Given the description of an element on the screen output the (x, y) to click on. 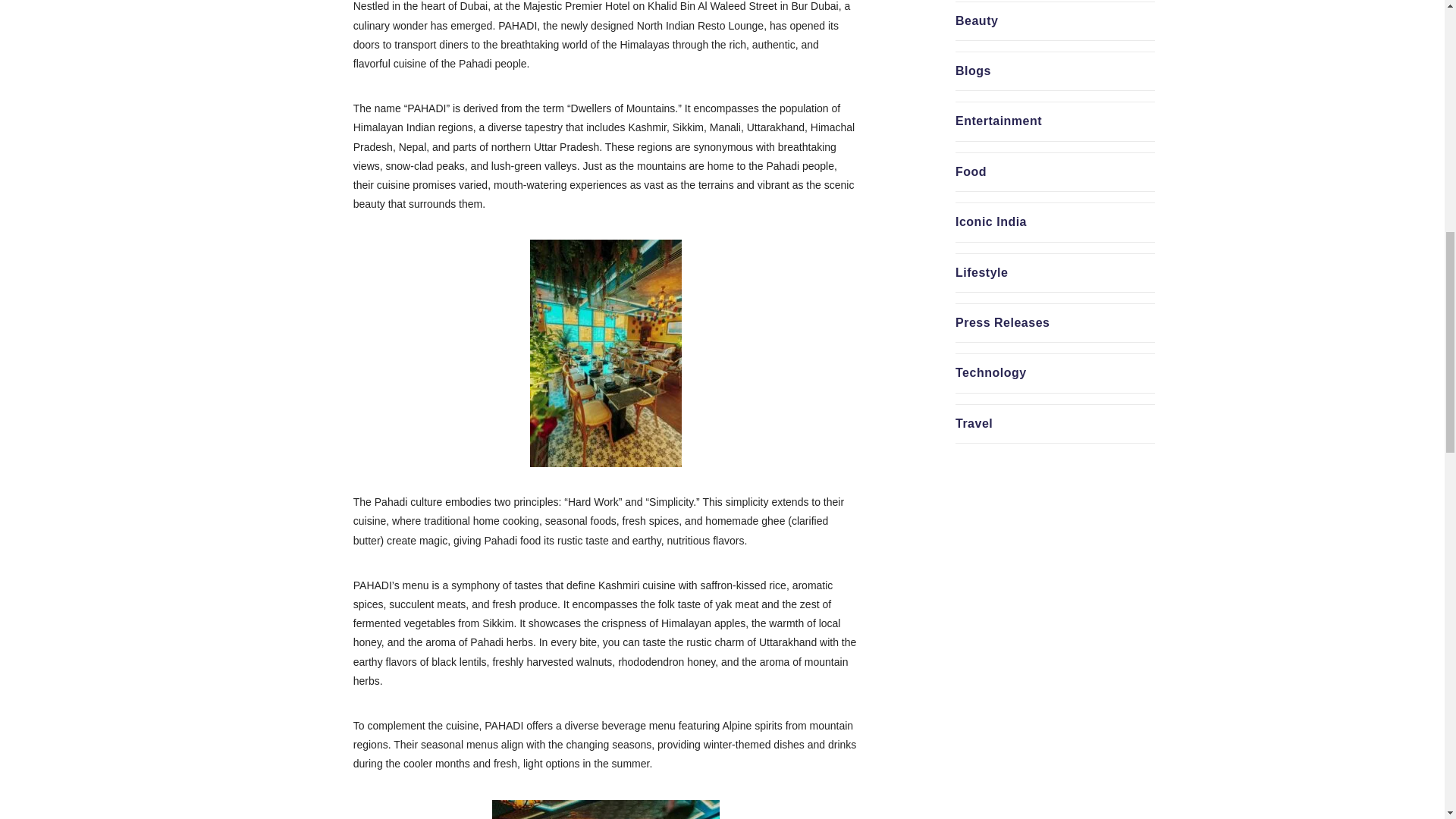
Press Releases (1002, 322)
Beauty (976, 20)
Lifestyle (981, 272)
Iconic India (990, 221)
Entertainment (998, 120)
Travel (973, 422)
Blogs (973, 70)
Technology (990, 372)
Food (971, 171)
